Given the description of an element on the screen output the (x, y) to click on. 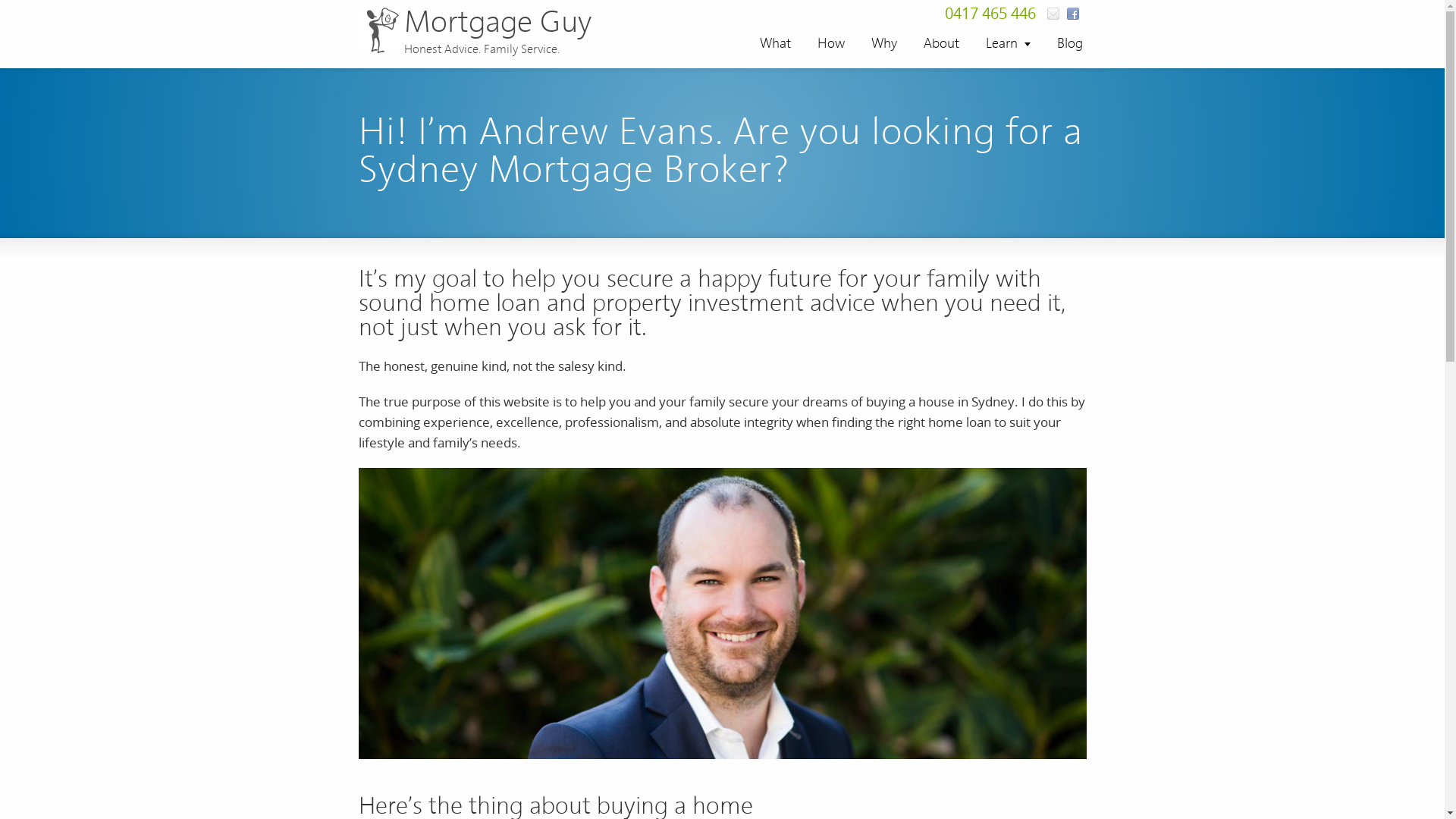
Follow Us on Facebook Element type: hover (1072, 13)
Follow Us on Email Element type: hover (1052, 13)
How Element type: text (830, 44)
0417 465 446 Element type: text (989, 15)
Blog Element type: text (1068, 44)
Mortgage Guy Element type: text (473, 23)
Learn Element type: text (1007, 44)
What Element type: text (774, 44)
Why Element type: text (883, 44)
About Element type: text (940, 44)
